Given the description of an element on the screen output the (x, y) to click on. 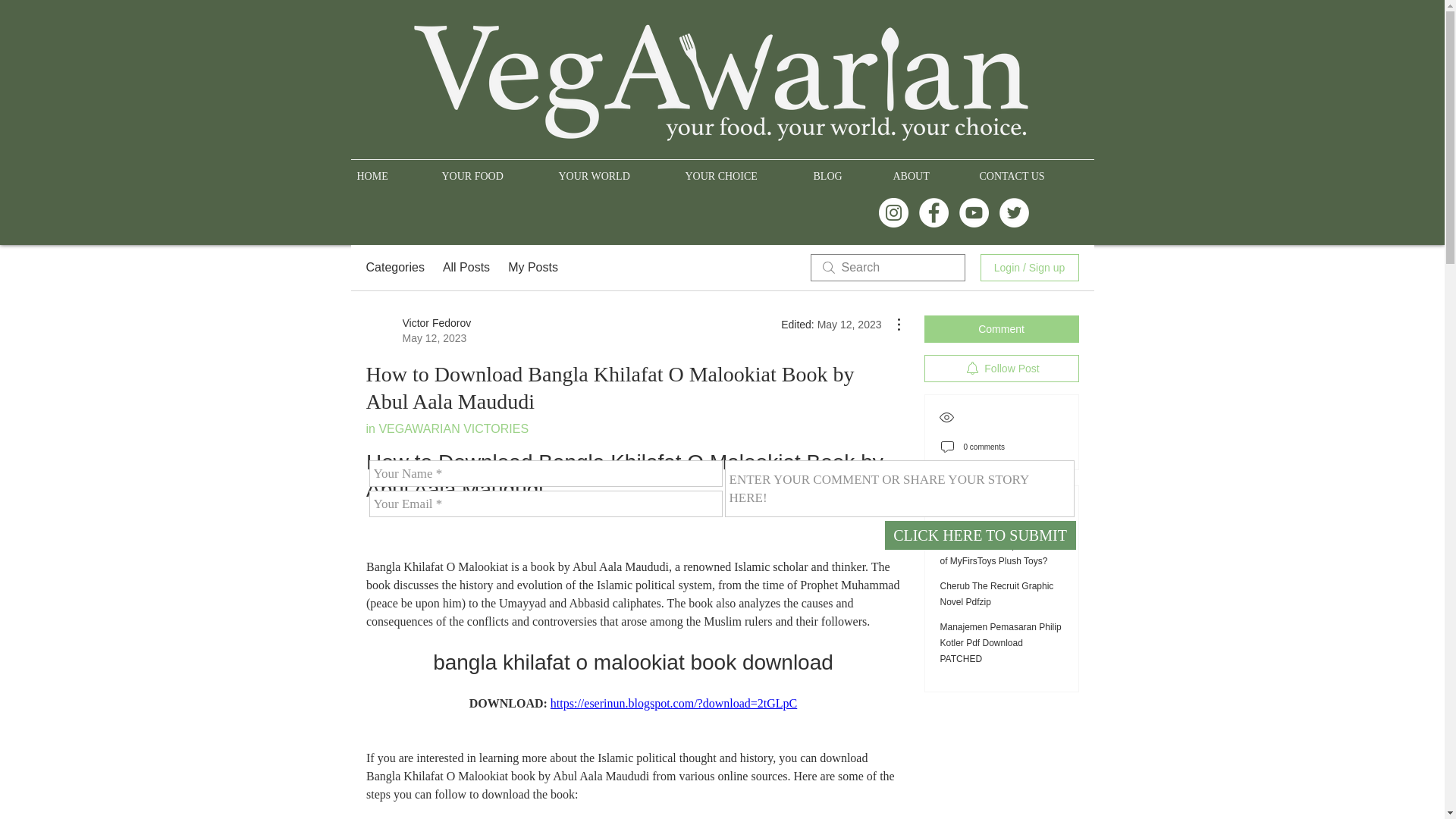
Categories (394, 267)
YOUR FOOD (493, 169)
YOUR WORLD (614, 169)
YOUR CHOICE (743, 169)
Cherub The Recruit Graphic Novel Pdfzip (997, 593)
ABOUT (930, 169)
All Posts (465, 267)
What Are the Unique Features of MyFirsToys Plush Toys? (1001, 552)
HOME (392, 169)
Follow Post (1000, 368)
Manajemen Pemasaran Philip Kotler Pdf Download PATCHED (1000, 642)
BLOG (846, 169)
CONTACT US (1034, 169)
CLICK HERE TO SUBMIT (979, 534)
Comment (1000, 329)
